Given the description of an element on the screen output the (x, y) to click on. 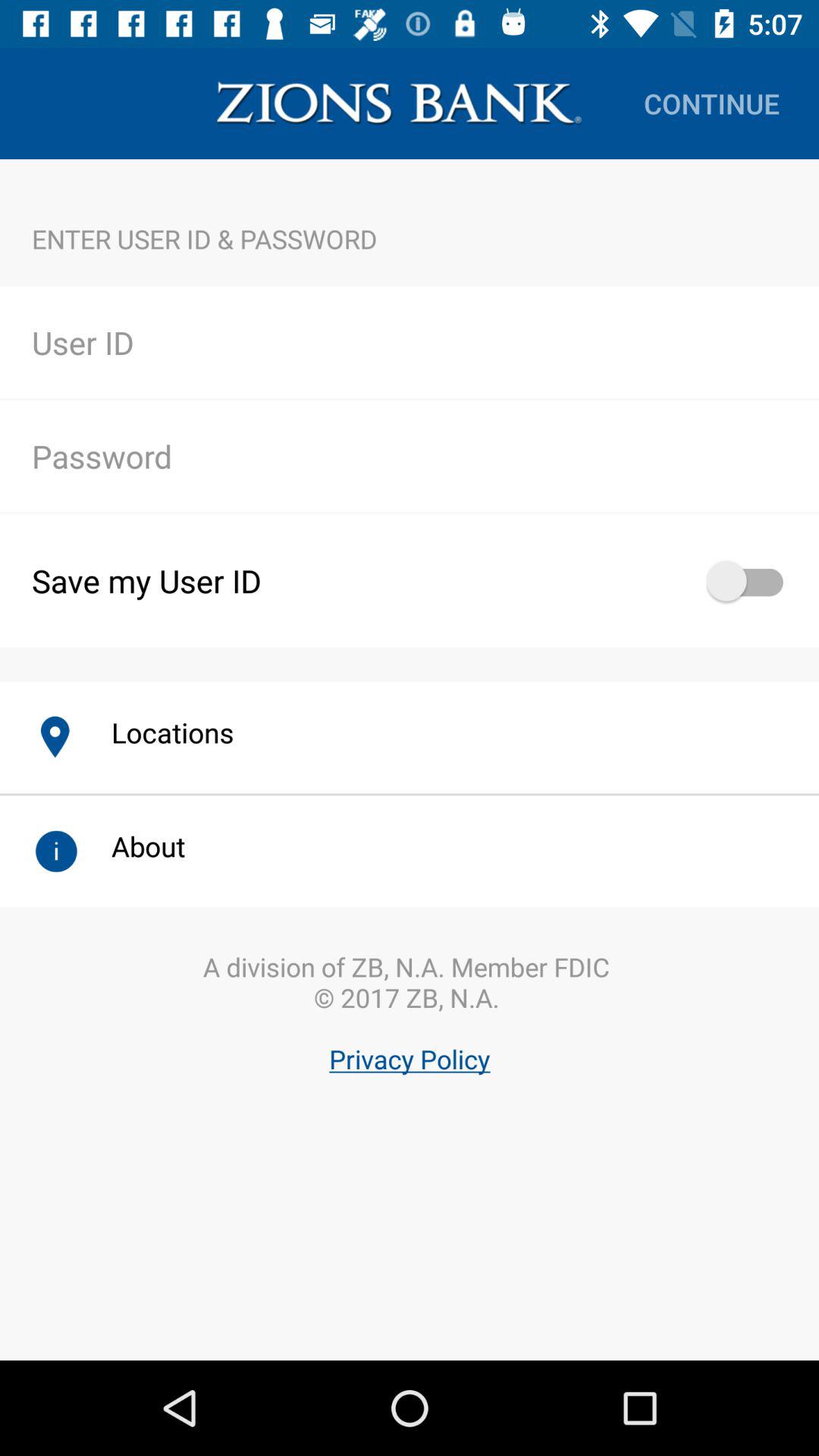
turn off item above the enter user id icon (399, 103)
